Given the description of an element on the screen output the (x, y) to click on. 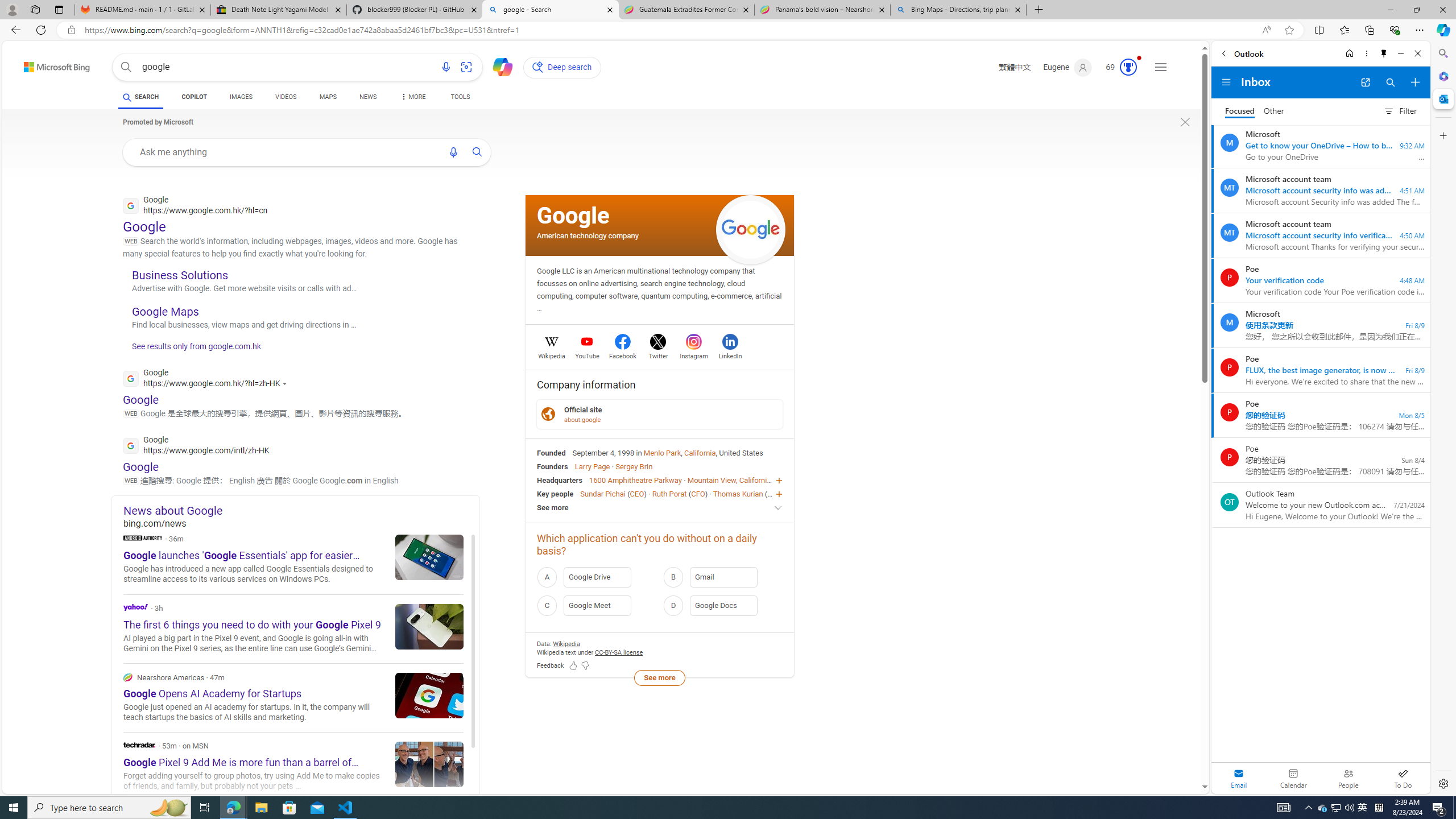
Settings and more (Alt+F) (1419, 29)
TechRadar (139, 744)
Folder navigation (1225, 82)
MAPS (327, 98)
Nearshore Americas (127, 677)
Official siteabout.google (660, 414)
Founded (551, 452)
CEO (774, 492)
Android Authority (142, 537)
The first 6 things you need to do with your Google Pixel 9 (428, 626)
1600 Amphitheatre Parkway (635, 479)
View site information (70, 29)
Copilot (Ctrl+Shift+.) (1442, 29)
See more images of Google (751, 228)
